Given the description of an element on the screen output the (x, y) to click on. 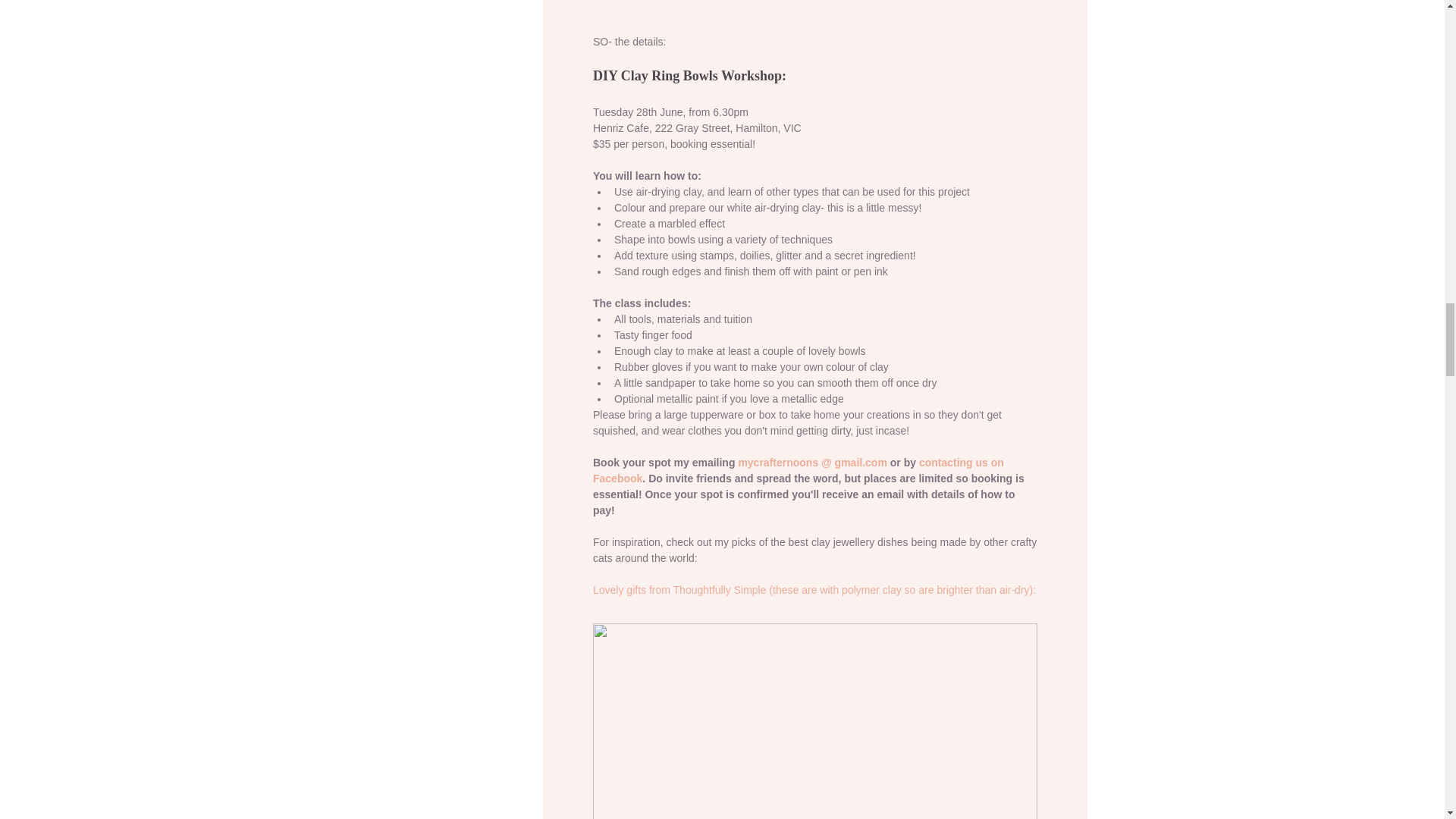
contacting us on Facebook (799, 470)
